Given the description of an element on the screen output the (x, y) to click on. 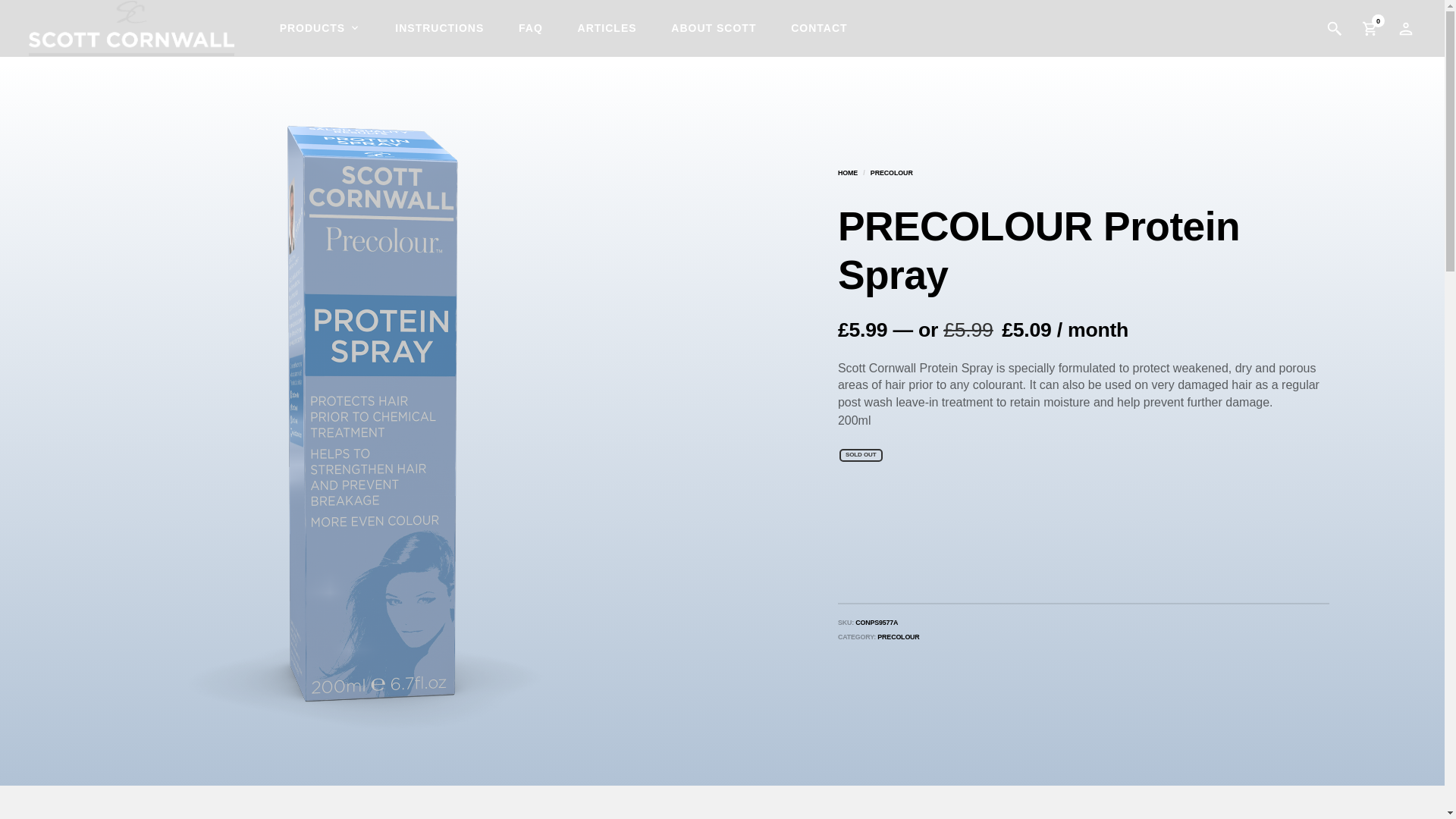
ABOUT SCOTT (714, 27)
CONTACT (818, 27)
FAQ (530, 27)
INSTRUCTIONS (439, 27)
ARTICLES (607, 27)
0 (1369, 28)
